Given the description of an element on the screen output the (x, y) to click on. 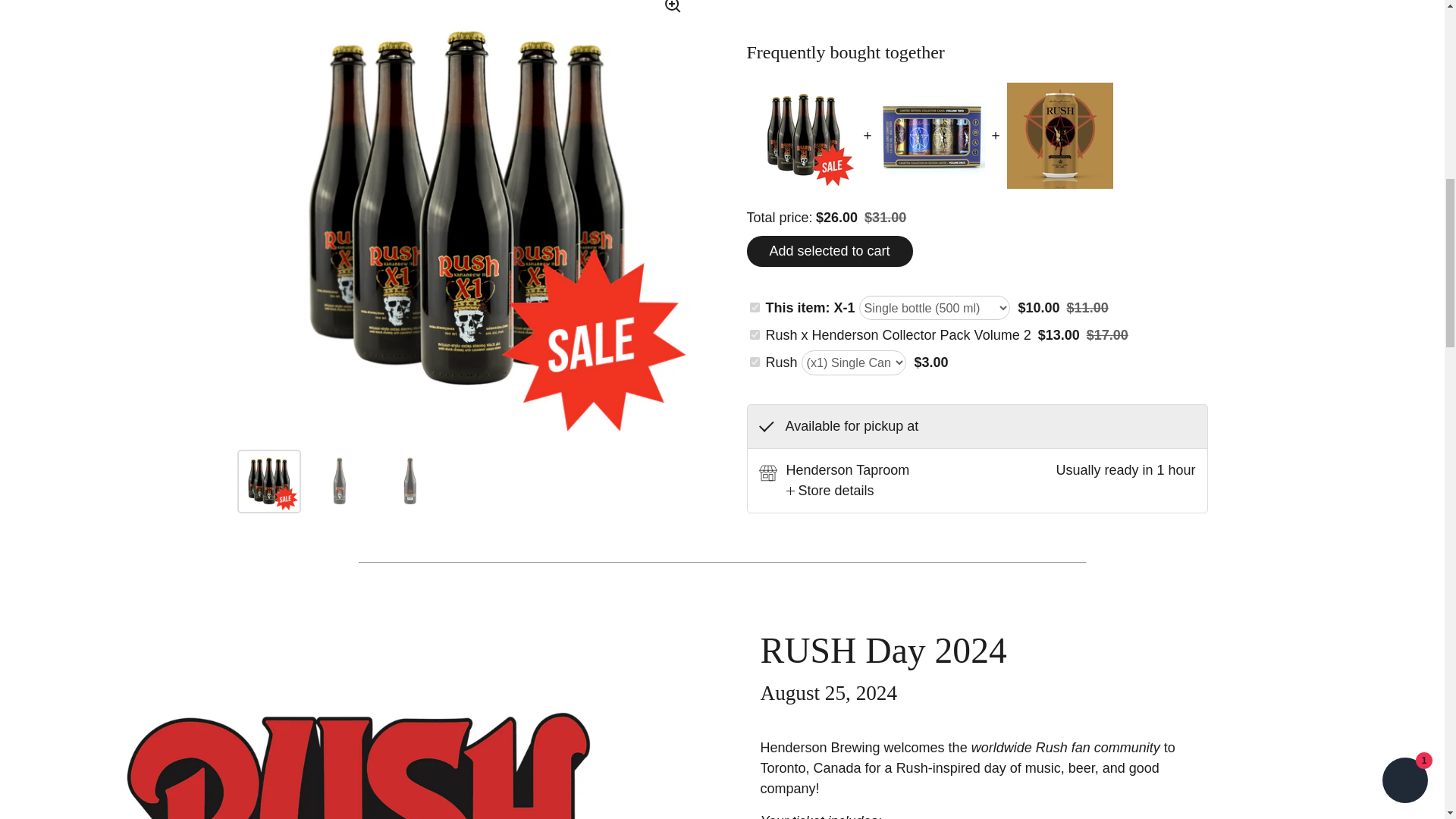
on (753, 307)
on (753, 361)
on (753, 334)
